Given the description of an element on the screen output the (x, y) to click on. 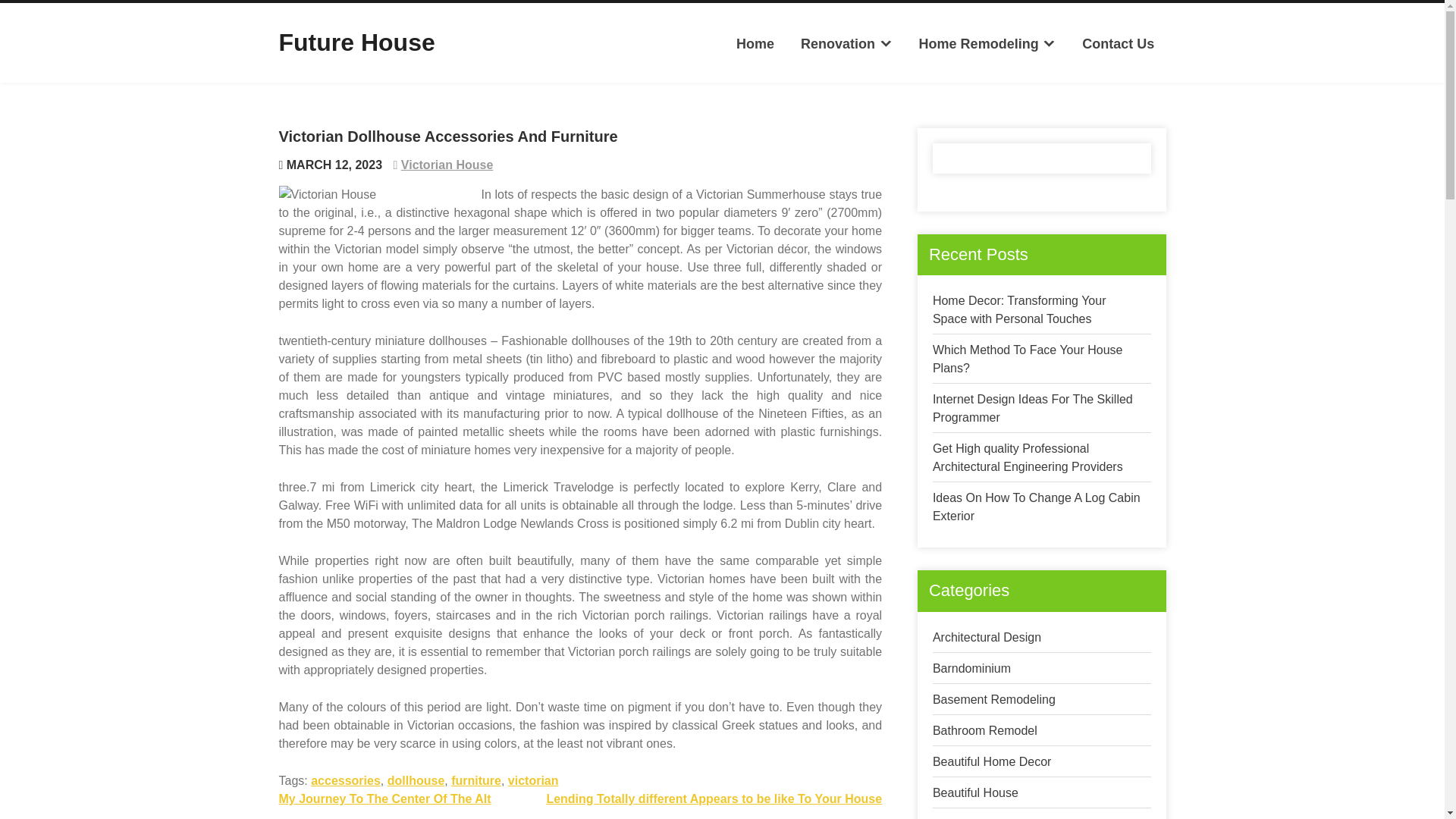
Contact Us (1118, 44)
Ideas On How To Change A Log Cabin Exterior (1036, 506)
Home (755, 44)
Basement Remodeling (994, 698)
Bathroom Remodel (984, 730)
dollhouse (416, 780)
Bungalow House (979, 818)
My Journey To The Center Of The Alt (385, 798)
Home Decor: Transforming Your Space with Personal Touches (1019, 309)
victorian (533, 780)
Future House (357, 42)
Lending Totally different Appears to be like To Your House (714, 798)
Beautiful Home Decor (992, 761)
Architectural Design (987, 636)
